Given the description of an element on the screen output the (x, y) to click on. 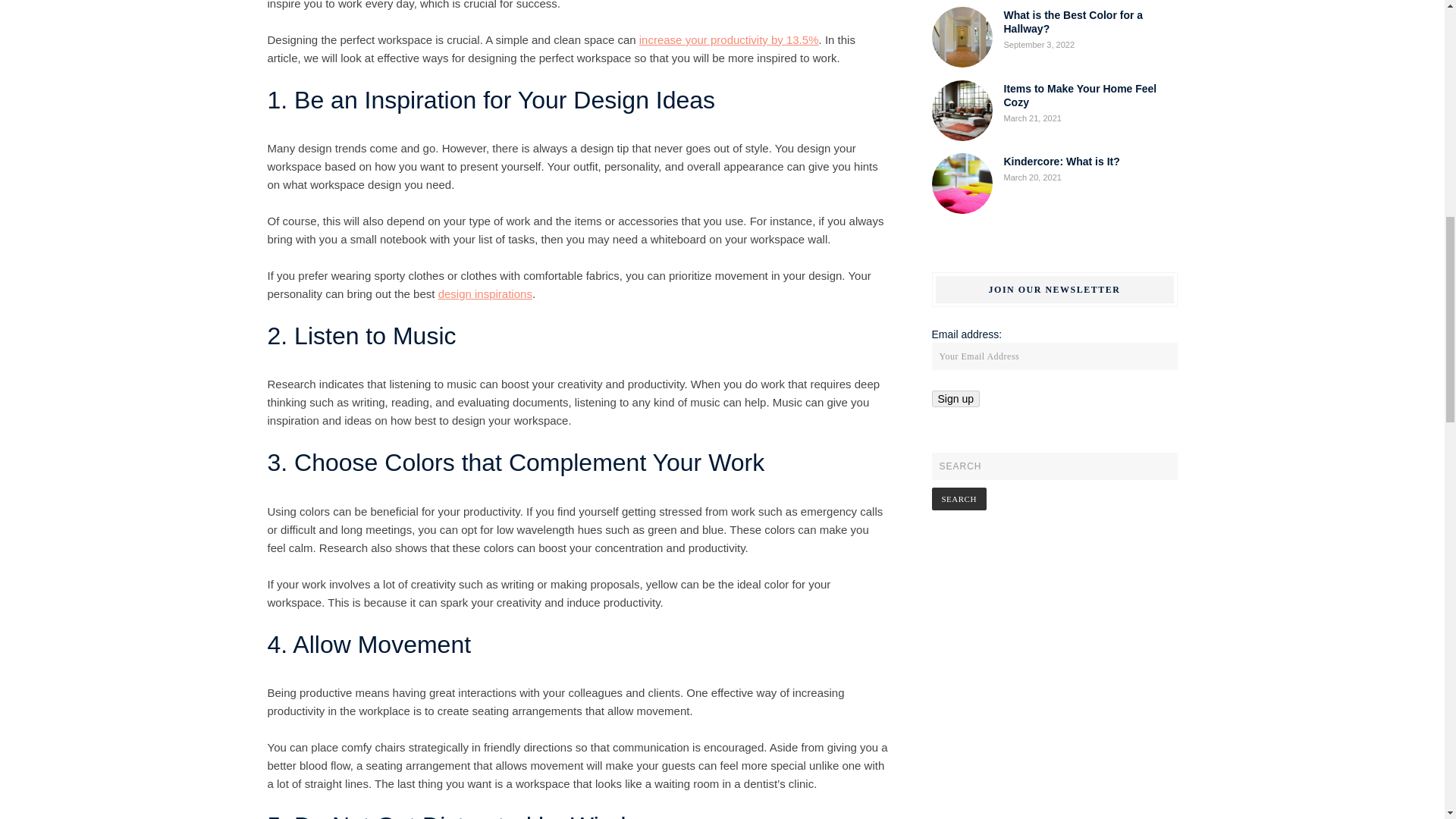
Search (958, 498)
What is the Best Color for a Hallway? (1073, 22)
Sign up (954, 398)
Search (958, 498)
design inspirations (485, 293)
Kindercore: What is It? (1061, 161)
Sign up (954, 398)
Items to Make Your Home Feel Cozy (1080, 95)
